Given the description of an element on the screen output the (x, y) to click on. 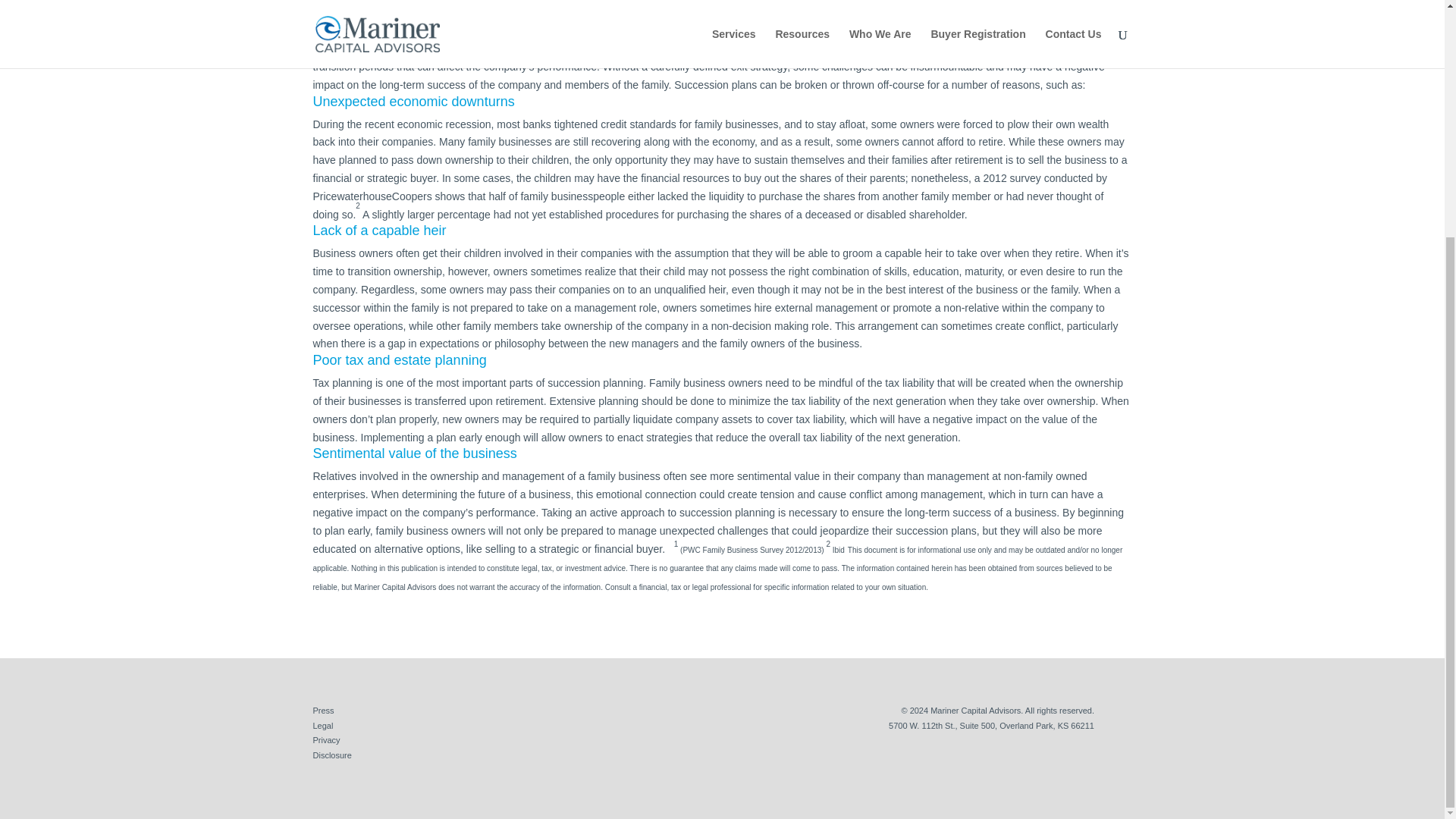
Disclosure (331, 755)
Press (323, 709)
Privacy (326, 739)
Legal (323, 725)
